Given the description of an element on the screen output the (x, y) to click on. 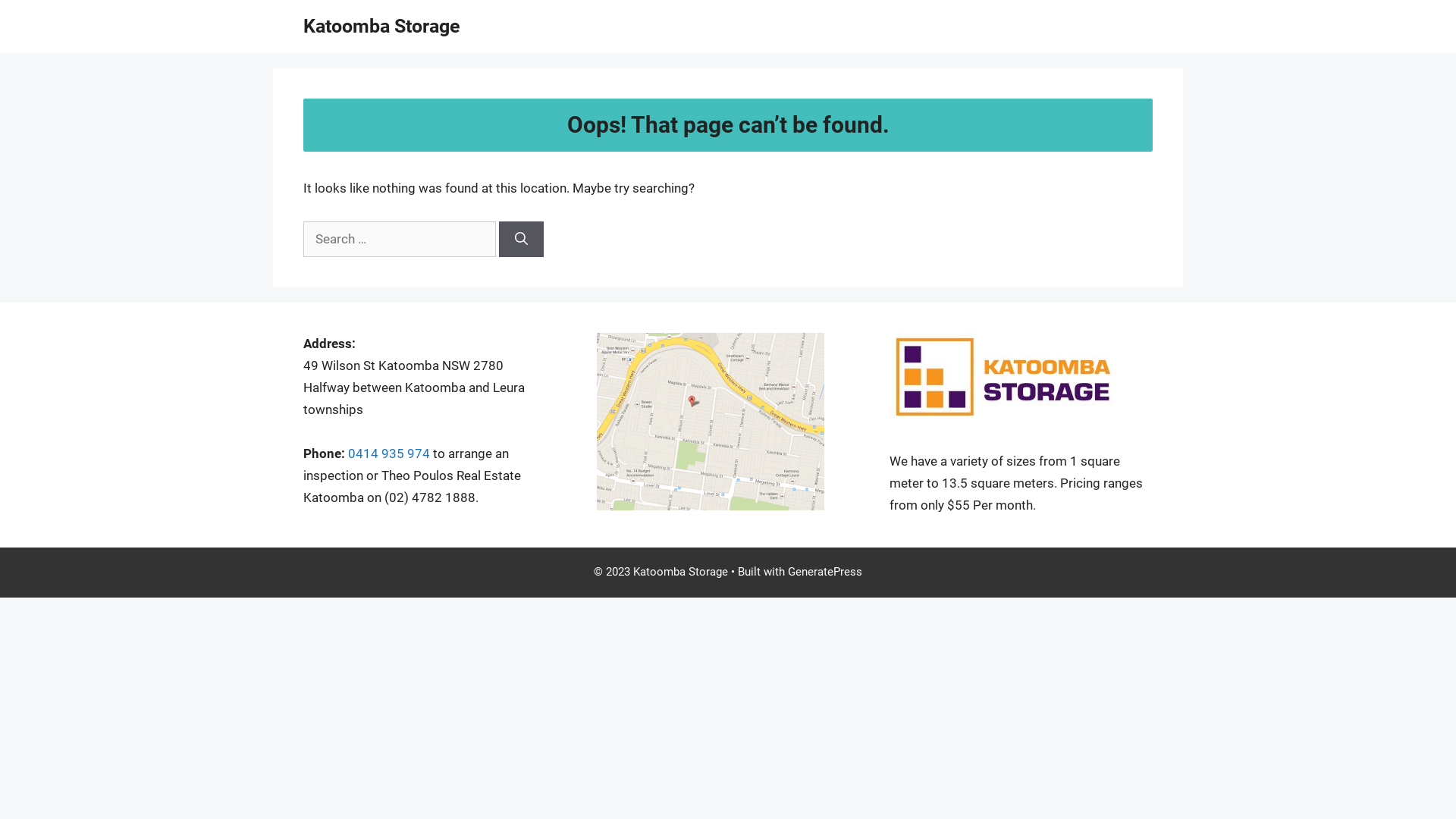
Search for: Element type: hover (399, 239)
GeneratePress Element type: text (824, 571)
0414 935 974 Element type: text (388, 453)
Katoomba Storage Element type: text (381, 26)
